Given the description of an element on the screen output the (x, y) to click on. 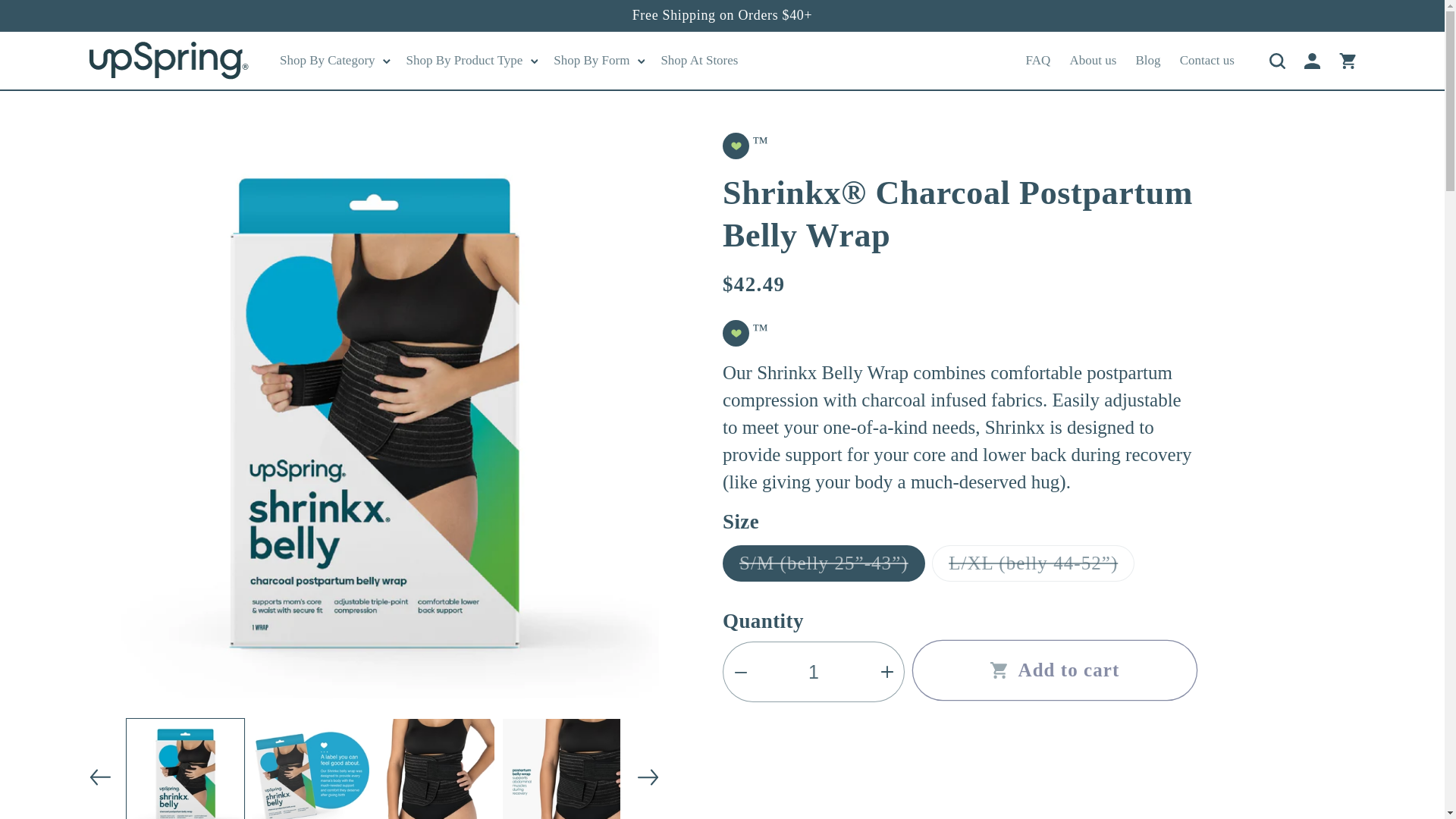
Shop At Stores (699, 59)
Skip to content (48, 18)
Contact us (1206, 59)
1 (813, 671)
